Given the description of an element on the screen output the (x, y) to click on. 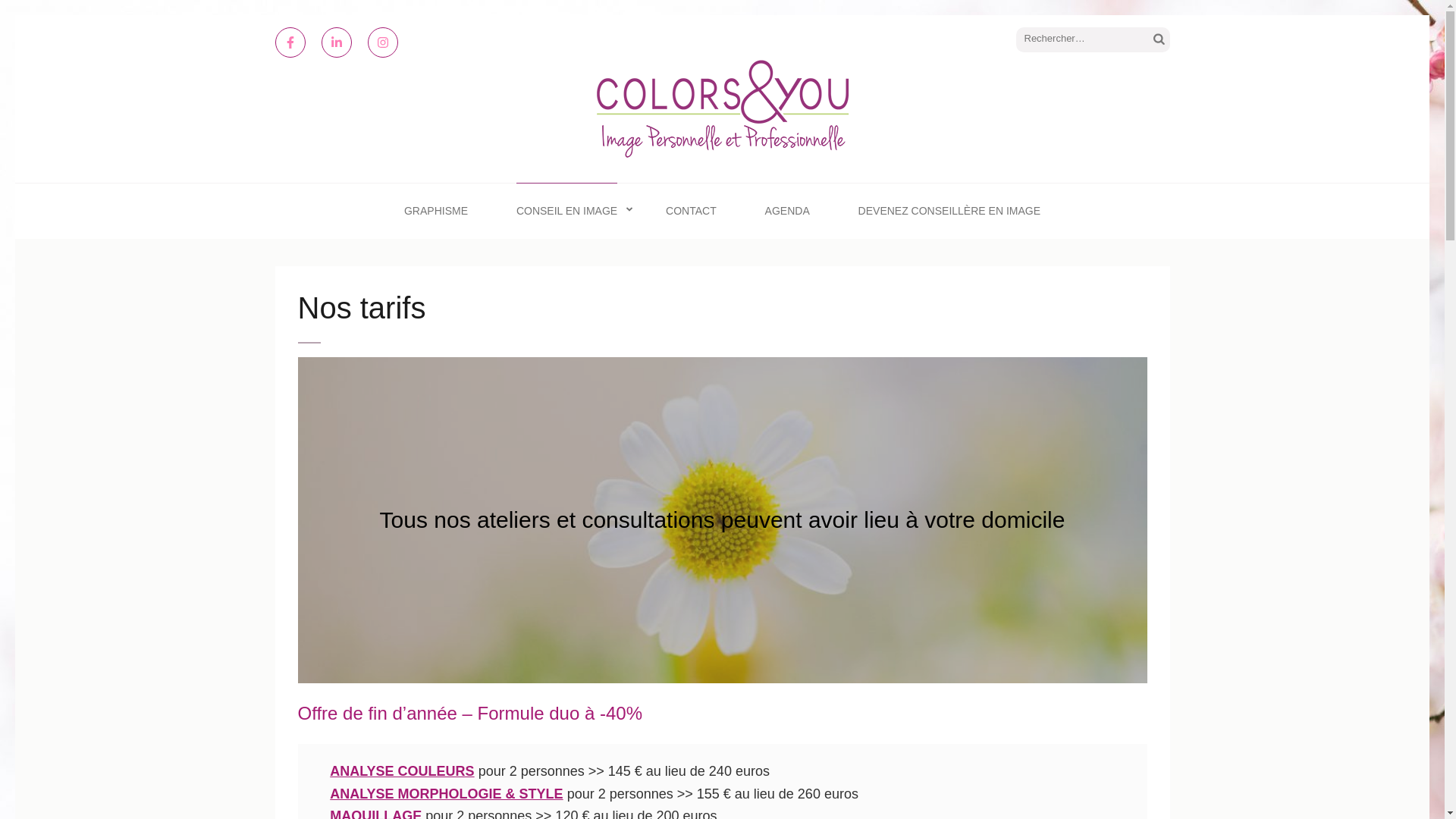
Facebook Element type: hover (289, 42)
LinkedIn Element type: hover (336, 42)
CONTACT Element type: text (690, 210)
GRAPHISME Element type: text (435, 210)
ANALYSE MORPHOLOGIE & STYLE Element type: text (445, 793)
ANALYSE COULEURS Element type: text (401, 770)
Rechercher Element type: text (1158, 39)
AGENDA Element type: text (787, 210)
CONSEIL EN IMAGE Element type: text (566, 210)
Instagram Element type: hover (382, 42)
